Given the description of an element on the screen output the (x, y) to click on. 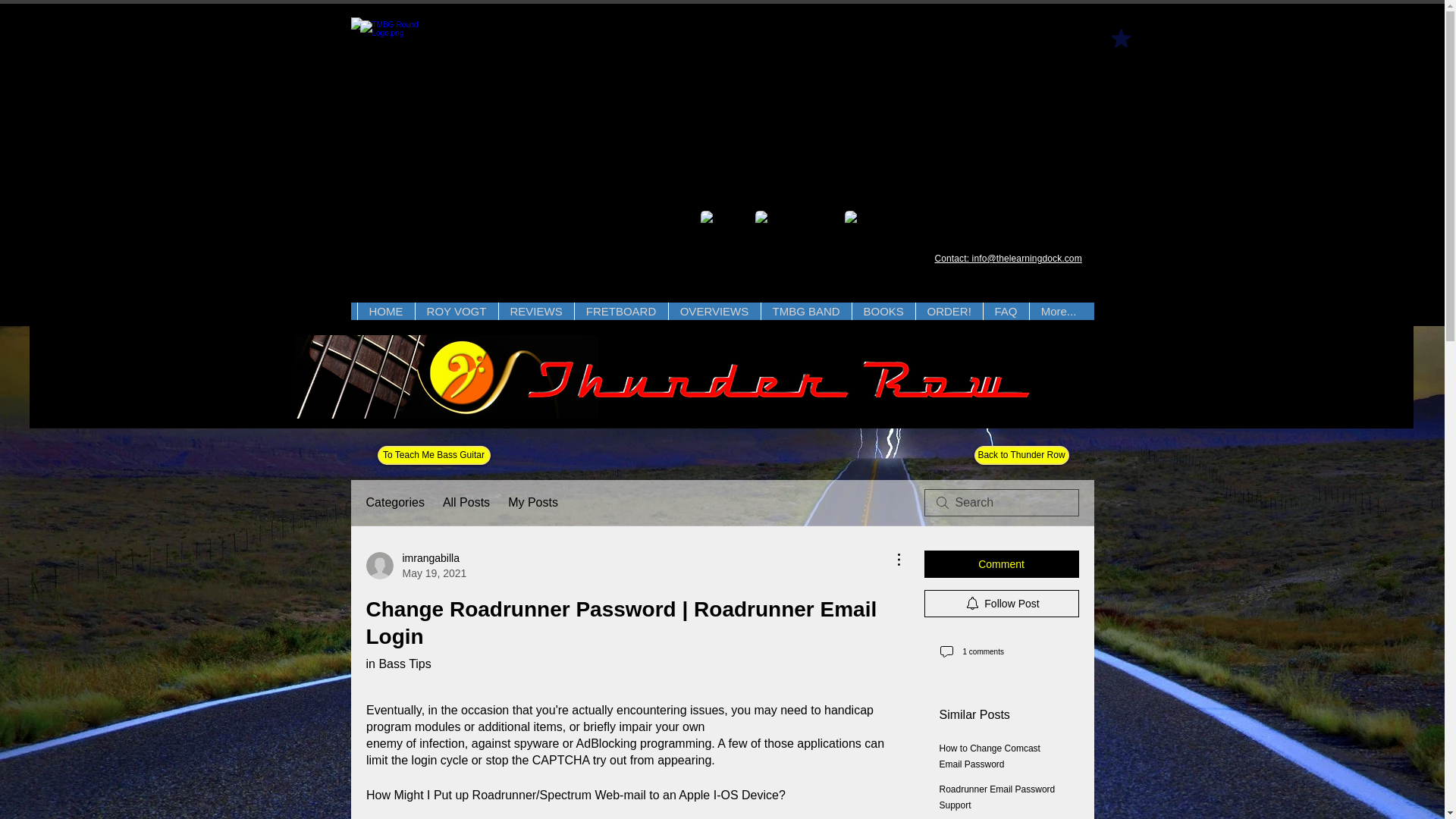
My Posts (532, 502)
Comment (1000, 564)
in Bass Tips (397, 663)
REVIEWS (535, 311)
OVERVIEWS (713, 311)
To Teach Me Bass Guitar (433, 455)
How to Change Comcast Email Password (989, 755)
ORDER! (947, 311)
FAQ (1005, 311)
All Posts (465, 502)
BOOKS (415, 565)
TMBG BAND (882, 311)
HOME (805, 311)
FRETBOARD (384, 311)
